Given the description of an element on the screen output the (x, y) to click on. 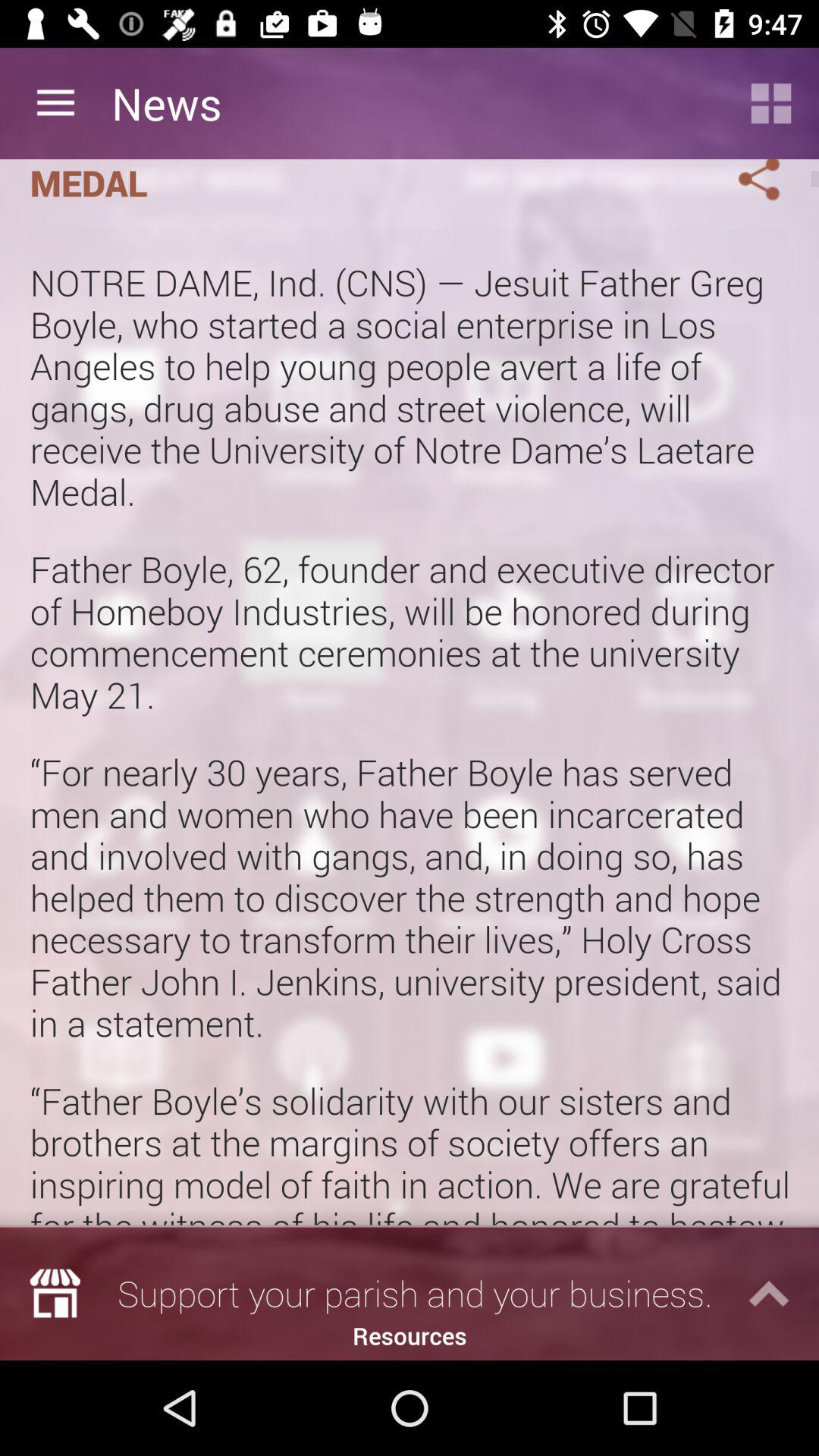
sharing menu (740, 183)
